Given the description of an element on the screen output the (x, y) to click on. 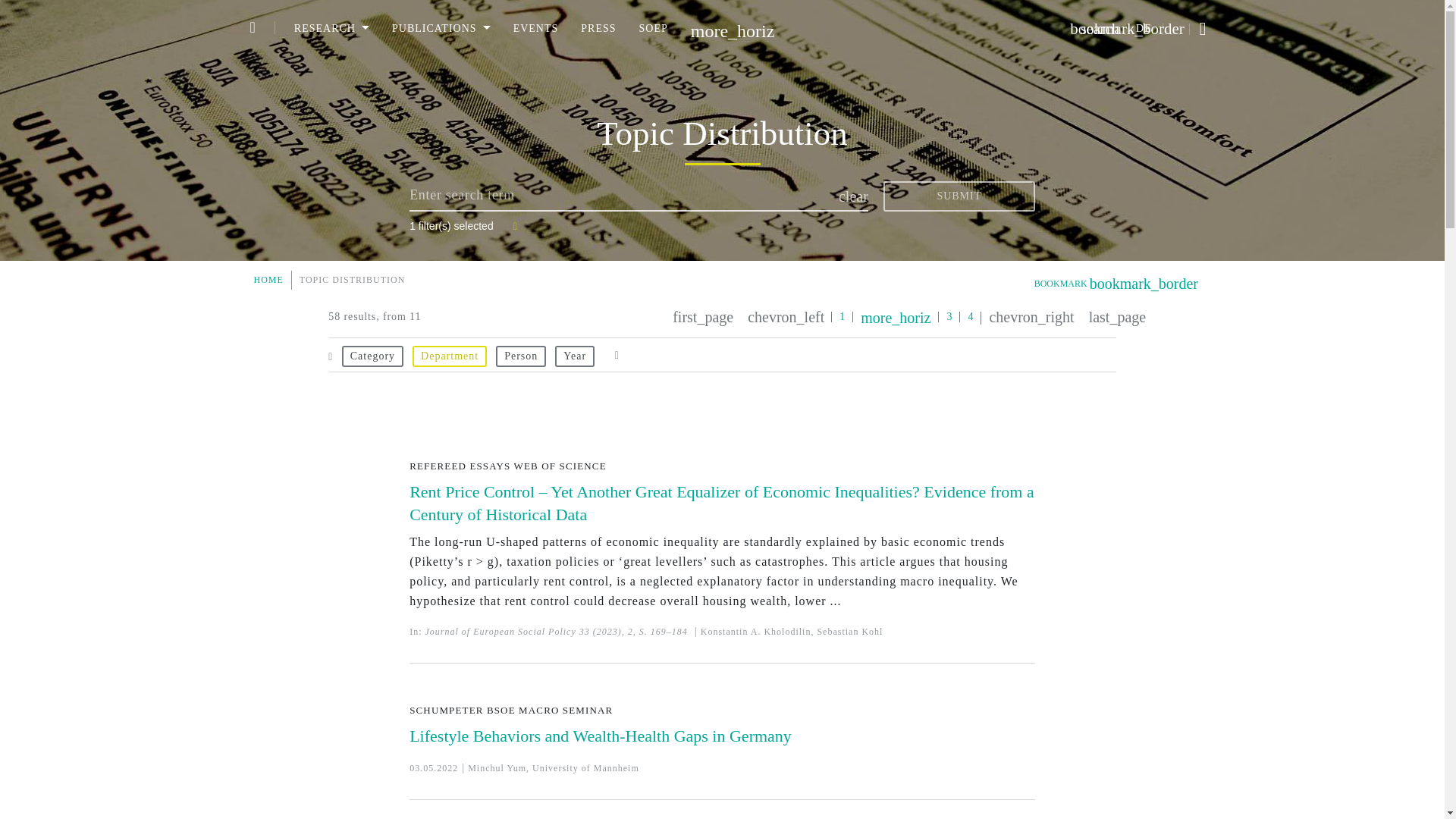
EVENTS (536, 27)
Gehe zur Seite (895, 317)
RESEARCH (331, 27)
PRESS (597, 27)
reset filter (616, 344)
Dieser Inhalt auf deutsch (1143, 28)
PUBLICATIONS (440, 27)
SOEP (653, 27)
5 (1114, 318)
